Given the description of an element on the screen output the (x, y) to click on. 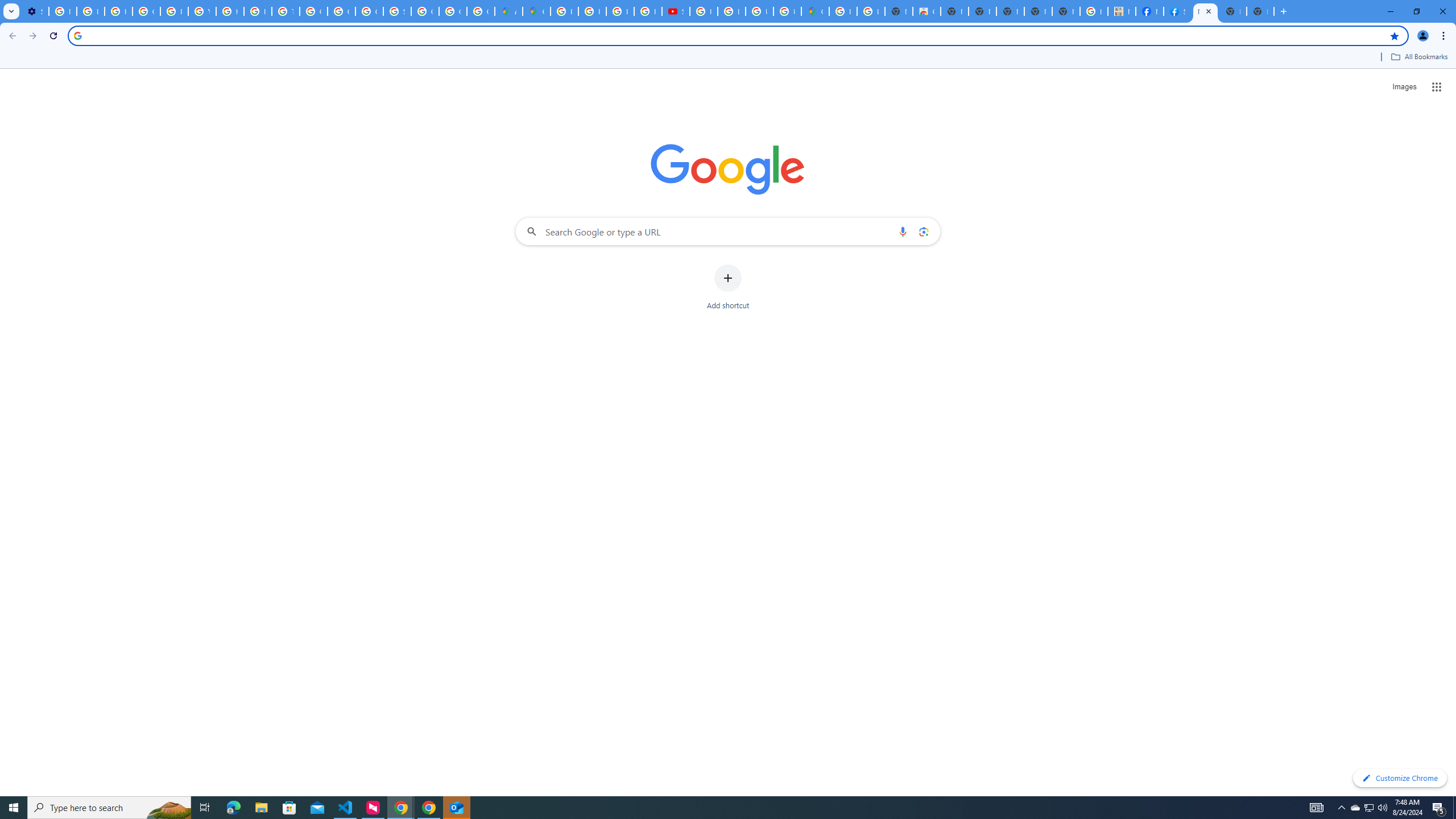
Google Maps (815, 11)
Learn how to find your photos - Google Photos Help (90, 11)
Bookmarks (728, 58)
Sign Up for Facebook (1177, 11)
Subscriptions - YouTube (675, 11)
Privacy Help Center - Policies Help (257, 11)
